Given the description of an element on the screen output the (x, y) to click on. 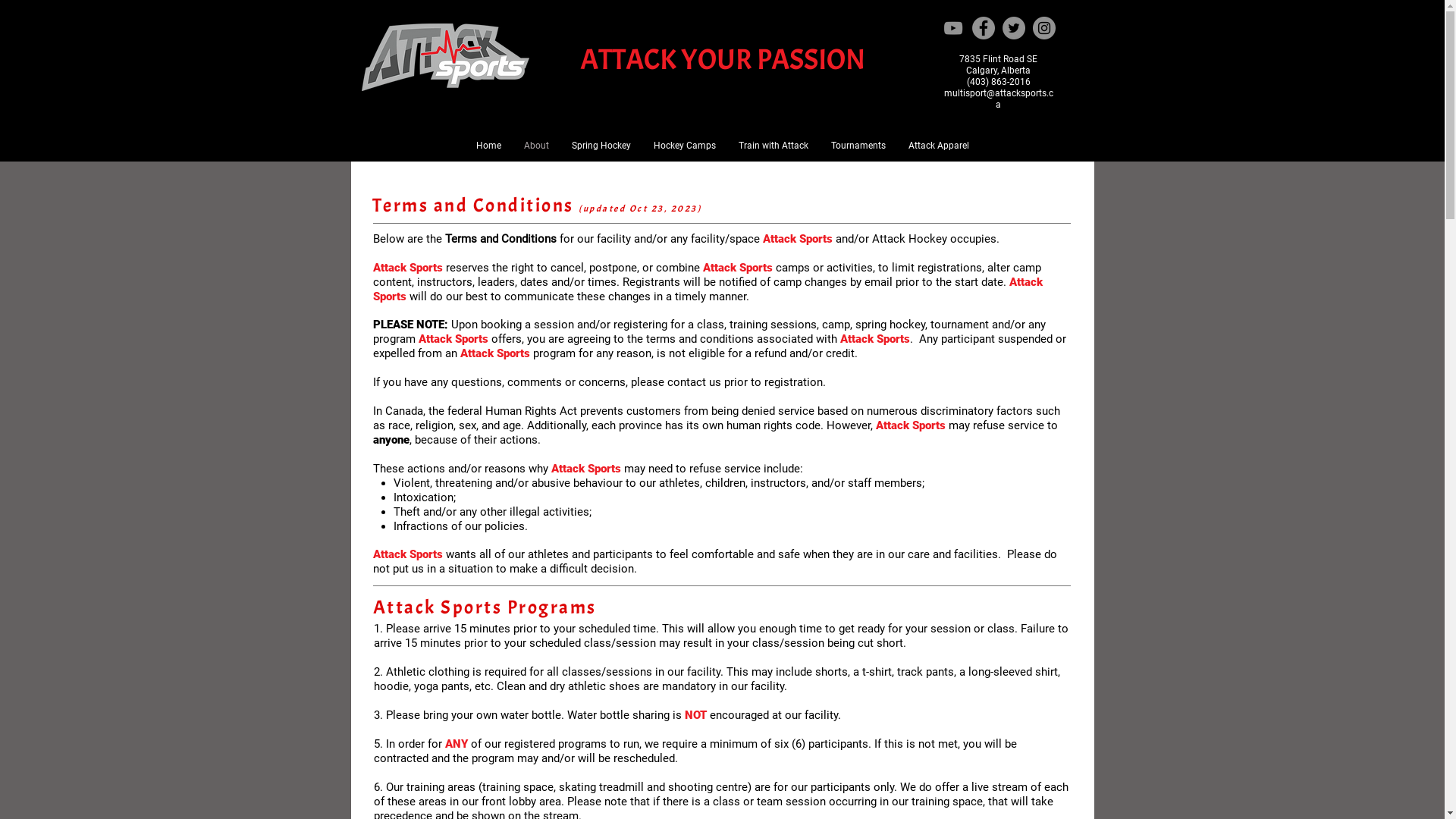
About Element type: text (536, 145)
Human Rights Act Element type: text (531, 410)
multisport@attacksports.ca Element type: text (997, 98)
ATTACK YOUR PASSION Element type: text (721, 59)
Tournaments Element type: text (857, 145)
Spring Hockey Element type: text (600, 145)
Hockey Camps Element type: text (683, 145)
Train with Attack Element type: text (772, 145)
Attack Apparel Element type: text (937, 145)
Home Element type: text (487, 145)
